Given the description of an element on the screen output the (x, y) to click on. 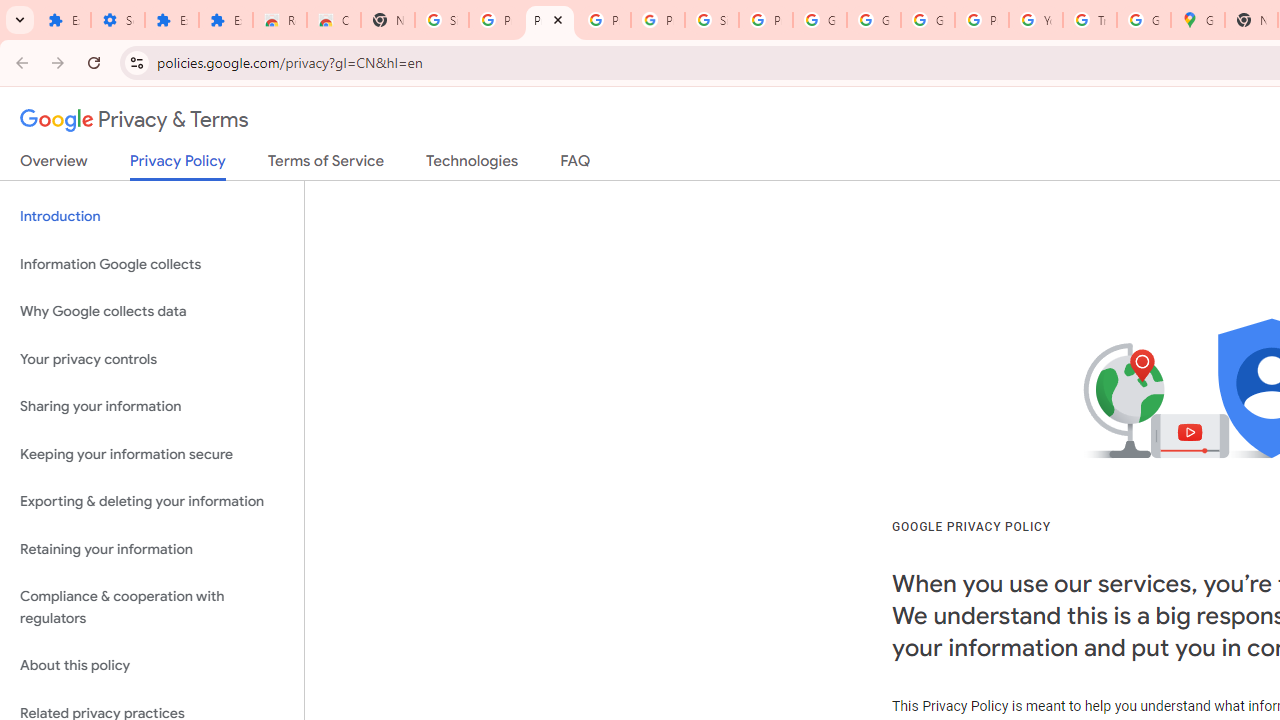
Privacy & Terms (134, 120)
Google Account (874, 20)
Extensions (171, 20)
FAQ (575, 165)
Exporting & deleting your information (152, 502)
Keeping your information secure (152, 453)
Extensions (225, 20)
Settings (117, 20)
